Given the description of an element on the screen output the (x, y) to click on. 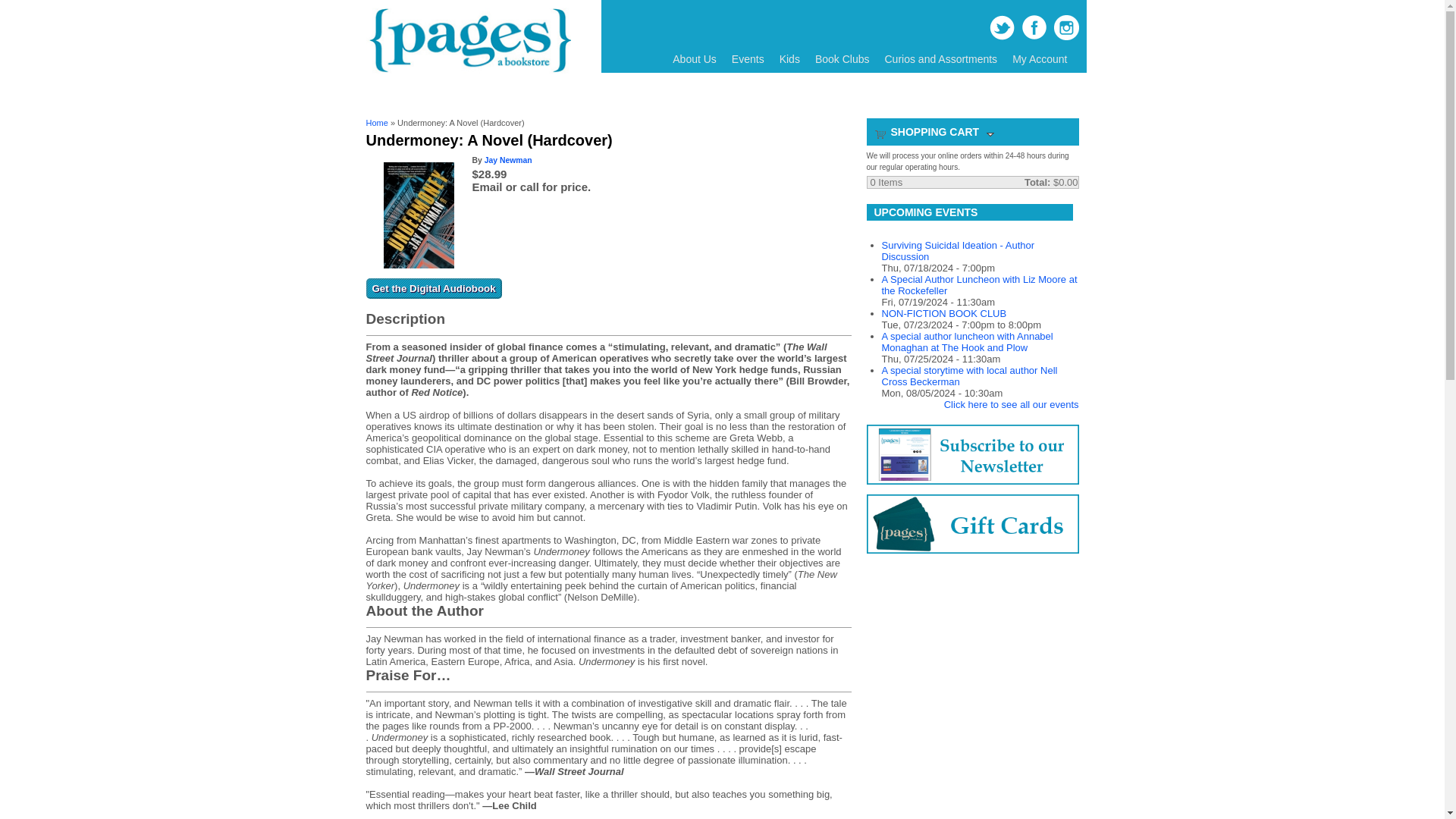
My Account (1039, 58)
Book Clubs (842, 58)
Home (376, 122)
NON-FICTION BOOK CLUB (943, 313)
Jay Newman (508, 160)
Kids (789, 58)
Home (467, 70)
Click here to see all our events (1010, 404)
Get the Digital Audiobook (432, 288)
Events (747, 58)
About Us (694, 58)
A Special Author Luncheon with Liz Moore at the Rockefeller (978, 284)
A special storytime with local author Nell Cross Beckerman (968, 375)
Surviving Suicidal Ideation - Author Discussion (956, 250)
